Given the description of an element on the screen output the (x, y) to click on. 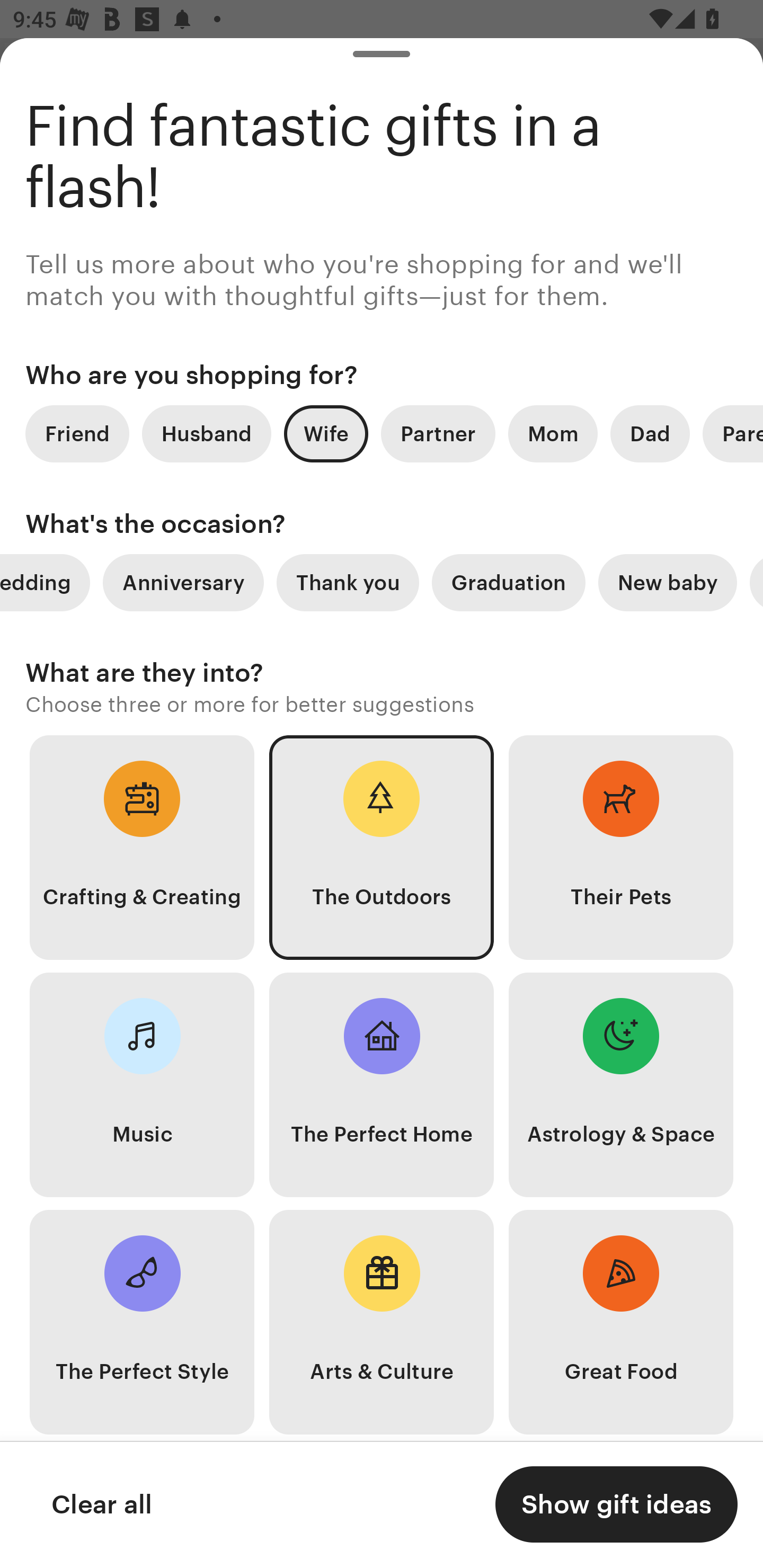
Friend (76, 433)
Husband (206, 433)
Wife (325, 433)
Partner (437, 433)
Mom (552, 433)
Dad (649, 433)
Anniversary (183, 582)
Thank you (347, 582)
Graduation (508, 582)
New baby (667, 582)
Crafting & Creating (141, 847)
The Outdoors (381, 847)
Their Pets (620, 847)
Music (141, 1084)
The Perfect Home (381, 1084)
Astrology & Space (620, 1084)
The Perfect Style (141, 1322)
Arts & Culture (381, 1322)
Great Food (620, 1322)
Clear all (101, 1504)
Show gift ideas (616, 1504)
